Given the description of an element on the screen output the (x, y) to click on. 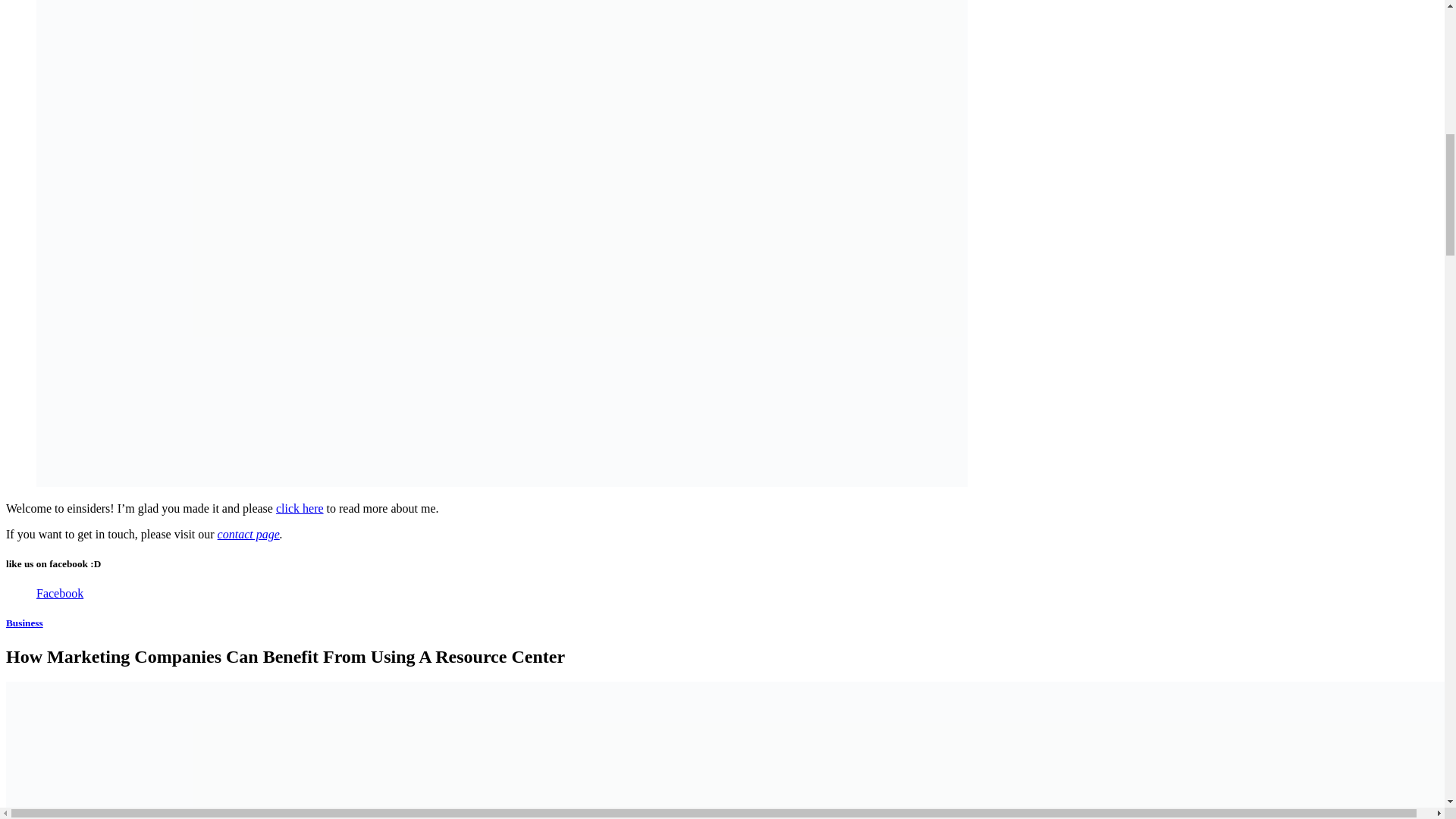
Facebook (59, 593)
contact page (247, 533)
click here (299, 508)
Business (24, 622)
